Given the description of an element on the screen output the (x, y) to click on. 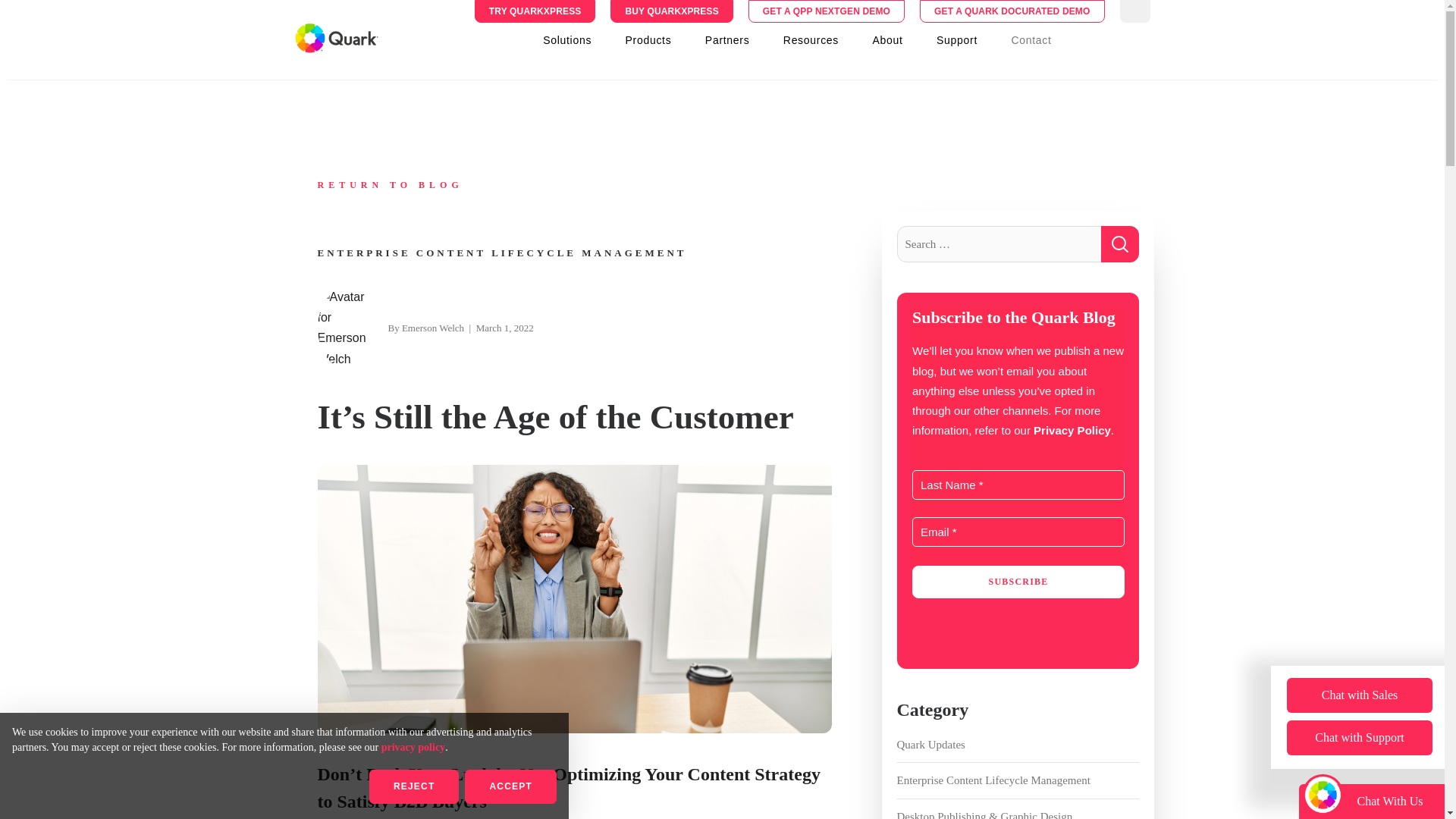
Search (1119, 244)
Quark Updates (1017, 744)
GET A QUARK DOCURATED DEMO (1011, 10)
Search (1119, 244)
Resources   (810, 40)
BUY QUARKXPRESS (671, 11)
TRY QXP (534, 11)
TRY QUARKXPRESS (534, 11)
GET A QPP NEXTGEN DEMO (825, 10)
Enterprise Content Lifecycle Management (1017, 780)
